Given the description of an element on the screen output the (x, y) to click on. 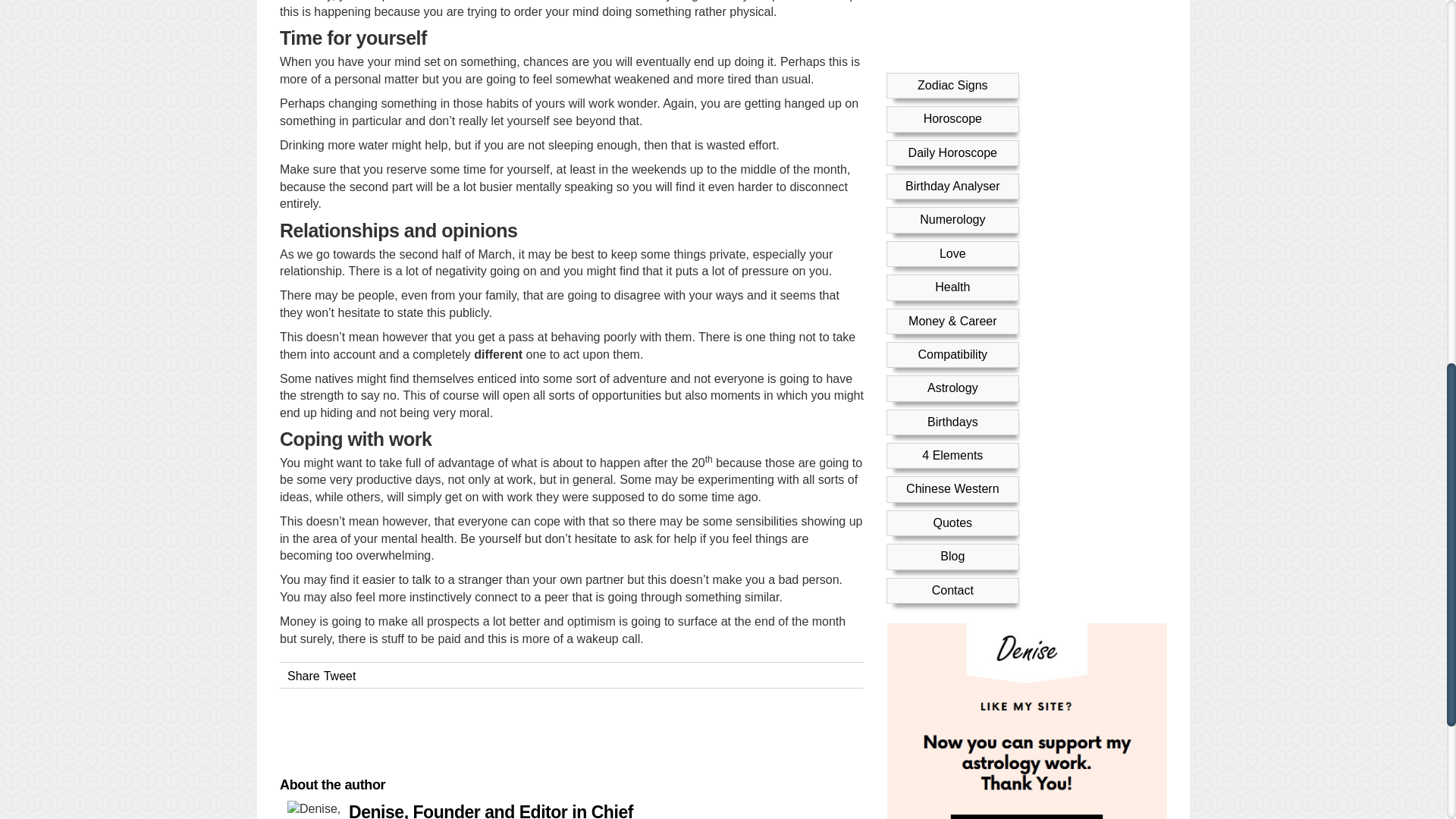
4 Elements (952, 141)
Quotes (952, 208)
Contact (952, 276)
Birthdays (952, 107)
Astrology (952, 73)
Blog (952, 241)
Compatibility (952, 40)
Chinese Western (952, 174)
